Given the description of an element on the screen output the (x, y) to click on. 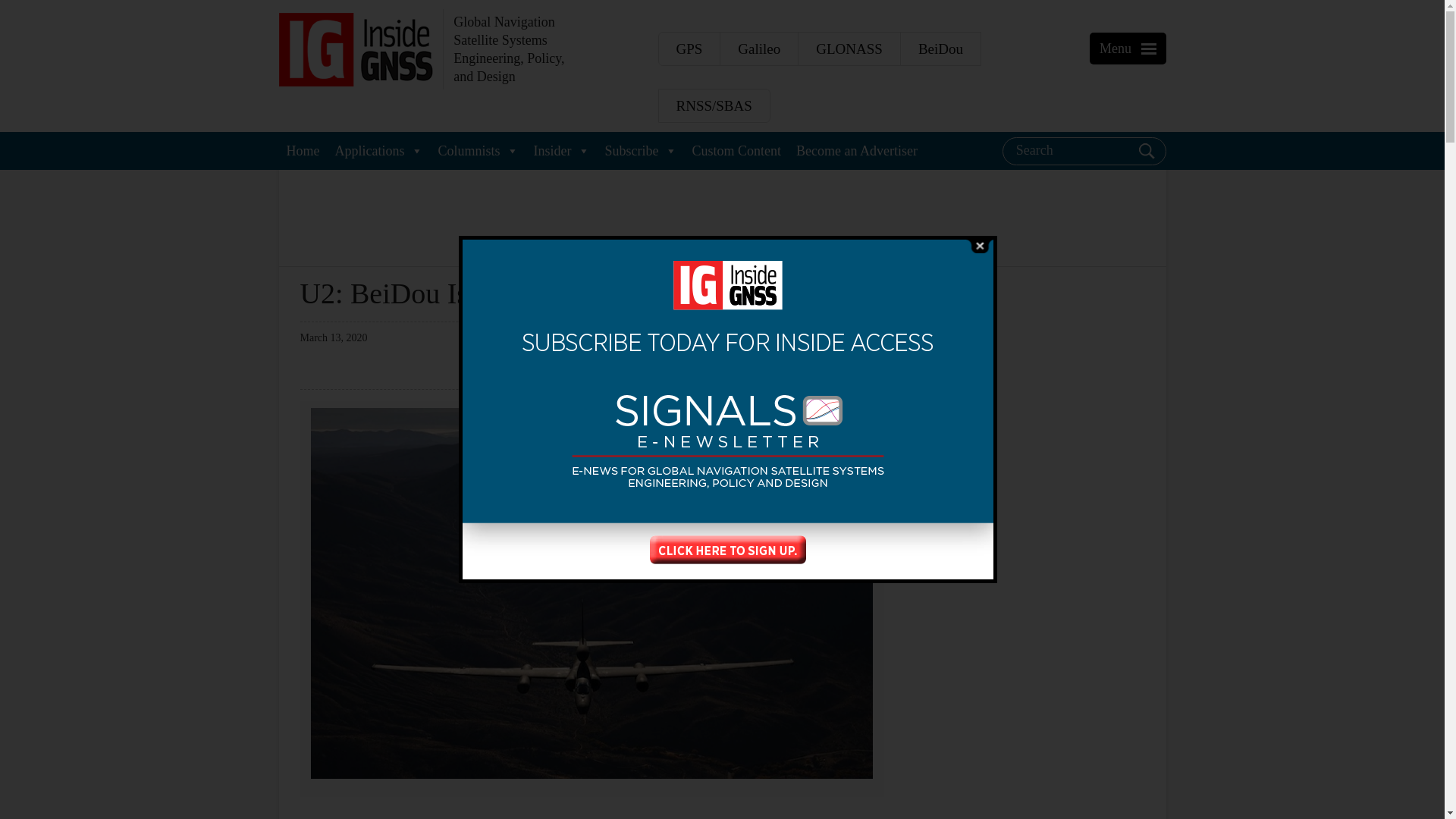
GLONASS (849, 48)
Insider (560, 150)
Subscribe (640, 150)
3rd party ad content (1030, 754)
3rd party ad content (1030, 372)
3rd party ad content (721, 214)
BeiDou (940, 48)
3rd party ad content (1030, 578)
Applications (378, 150)
GPS (689, 48)
Custom Content (736, 150)
Menu (1150, 48)
Home (303, 150)
Become an Advertiser (856, 150)
